Given the description of an element on the screen output the (x, y) to click on. 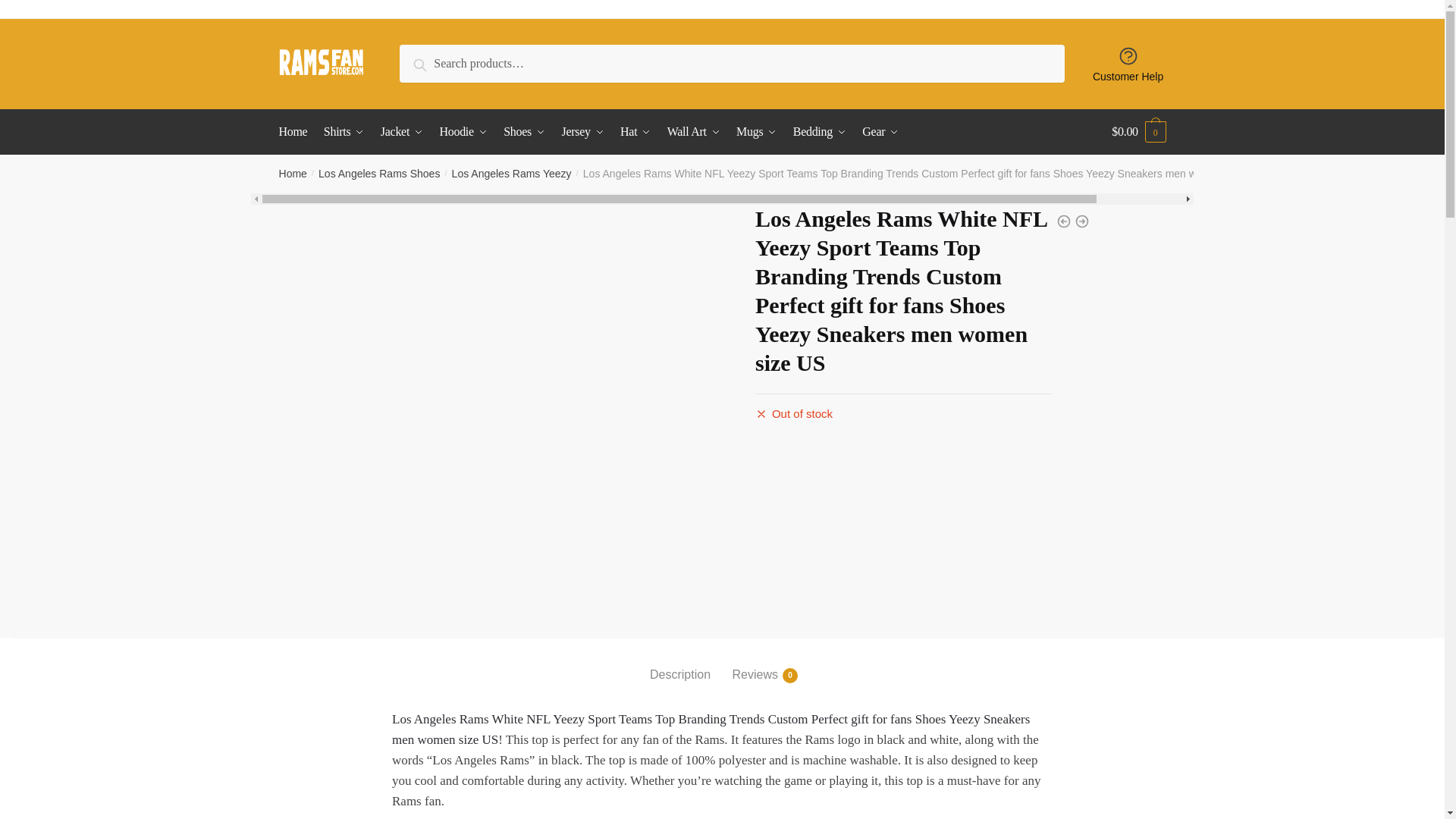
Jacket (401, 131)
Jersey (582, 131)
Hoodie (463, 131)
Shirts (344, 131)
Search (433, 62)
Shoes (524, 131)
View your shopping cart (1139, 131)
Customer Help (1128, 63)
